Given the description of an element on the screen output the (x, y) to click on. 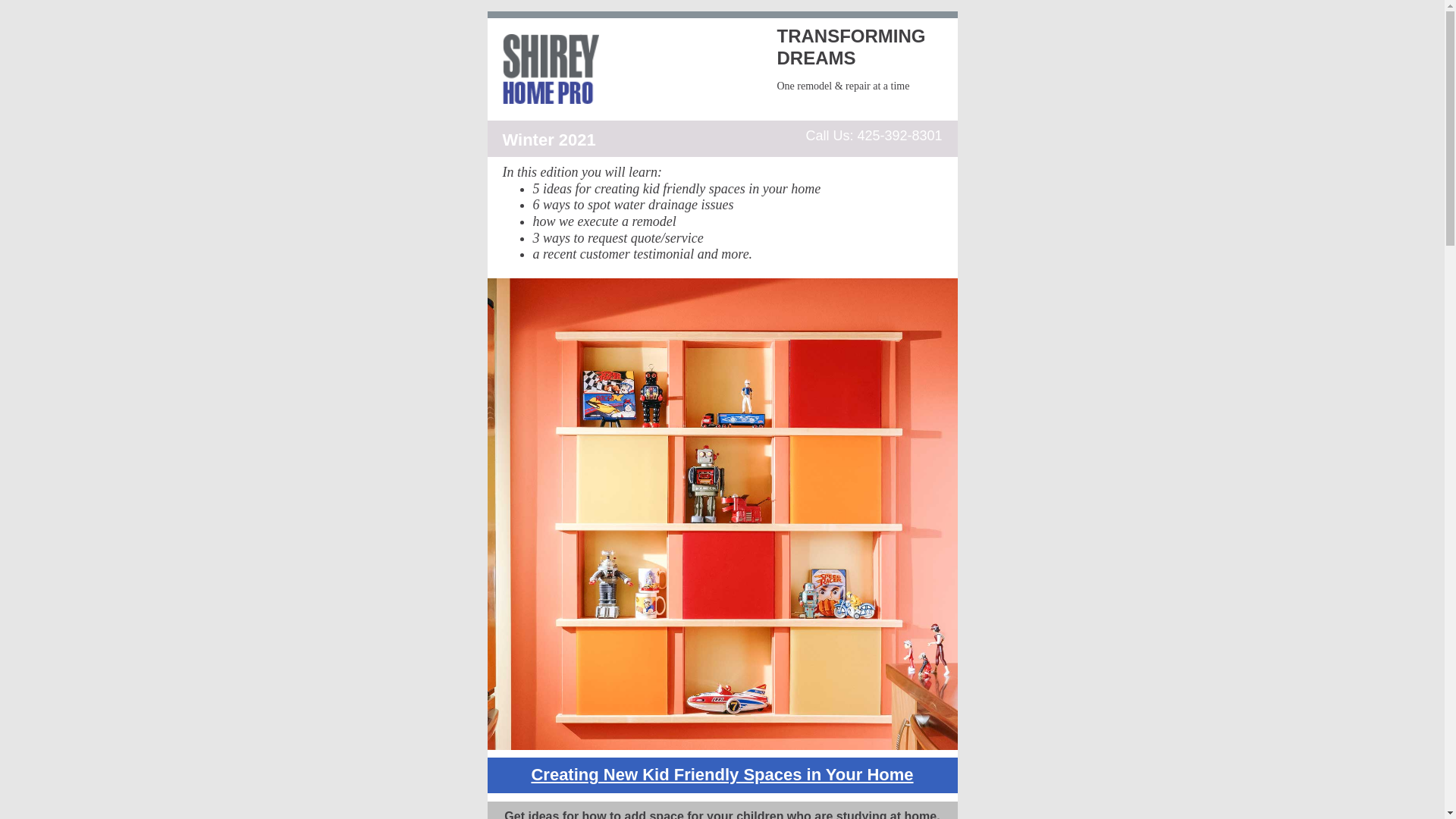
Creating New Kid Friendly Spaces in Your Home (721, 773)
